Given the description of an element on the screen output the (x, y) to click on. 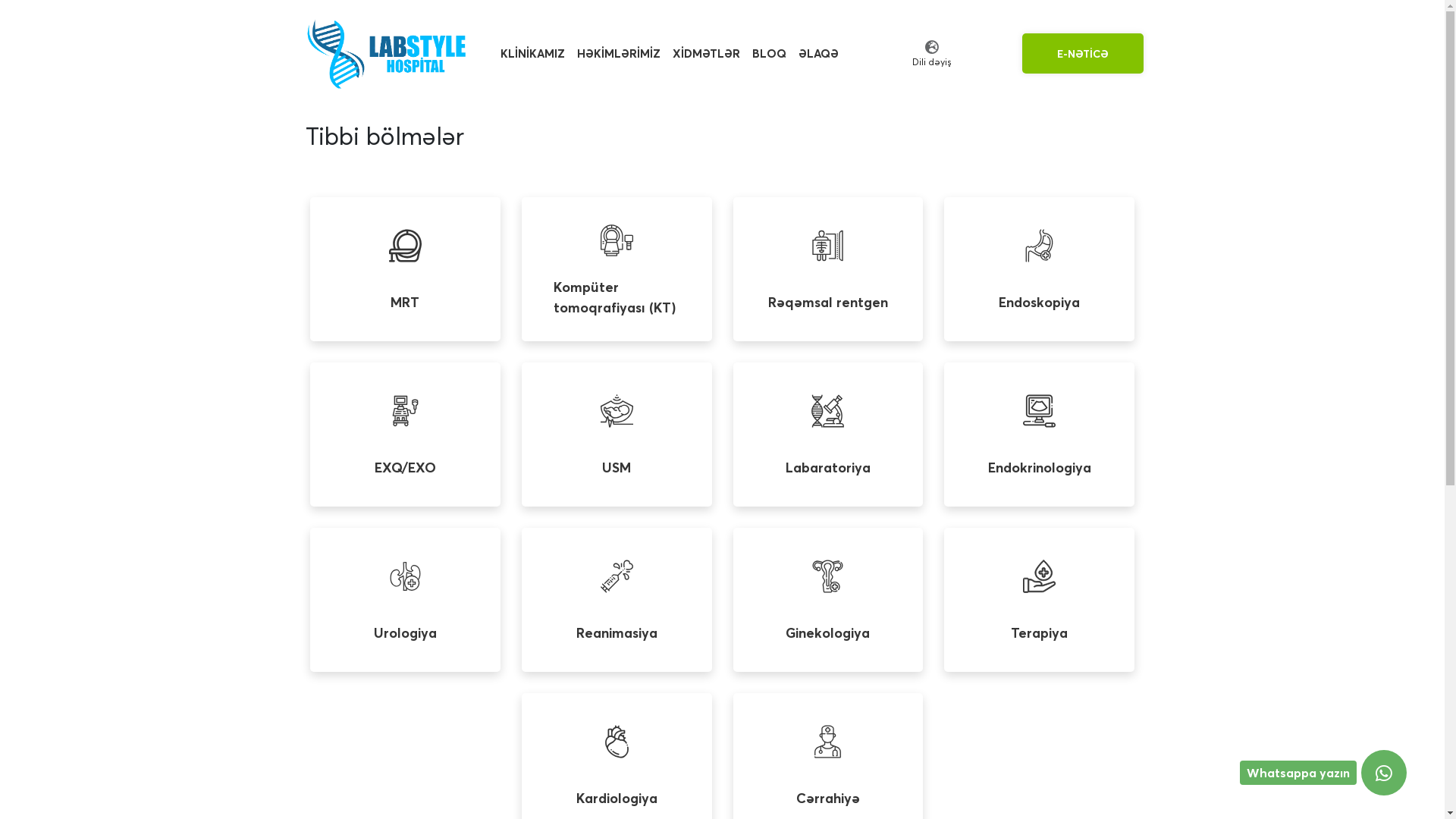
Terapiya Element type: text (1039, 599)
BLOQ Element type: text (769, 53)
kidney clinic
Urologiya Element type: text (405, 599)
Reanimasiya Element type: text (616, 599)
Ginekologiya Element type: text (827, 599)
Labaratoriya Element type: text (827, 434)
USM Element type: text (616, 434)
EXQ/EXO Element type: text (405, 434)
MRT Element type: text (405, 269)
Endoskopiya Element type: text (1039, 269)
Endokrinologiya Element type: text (1039, 434)
